Given the description of an element on the screen output the (x, y) to click on. 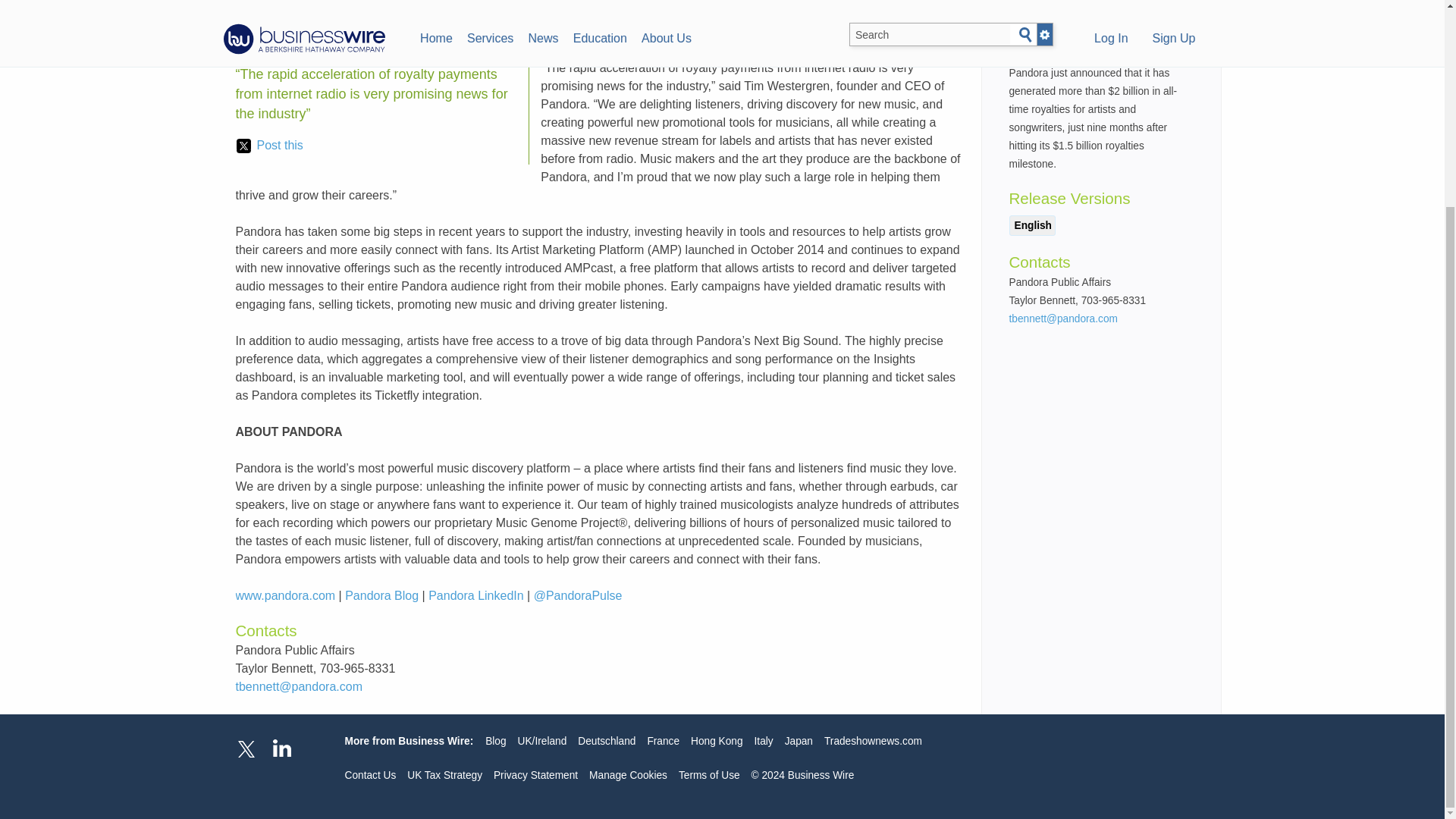
www.pandora.com (284, 594)
NYSE:P (1092, 17)
Pandora LinkedIn (475, 594)
Post this (269, 145)
View SEC Filings (1132, 15)
View stock quote and chart (1116, 15)
Pandora Blog (382, 594)
